Given the description of an element on the screen output the (x, y) to click on. 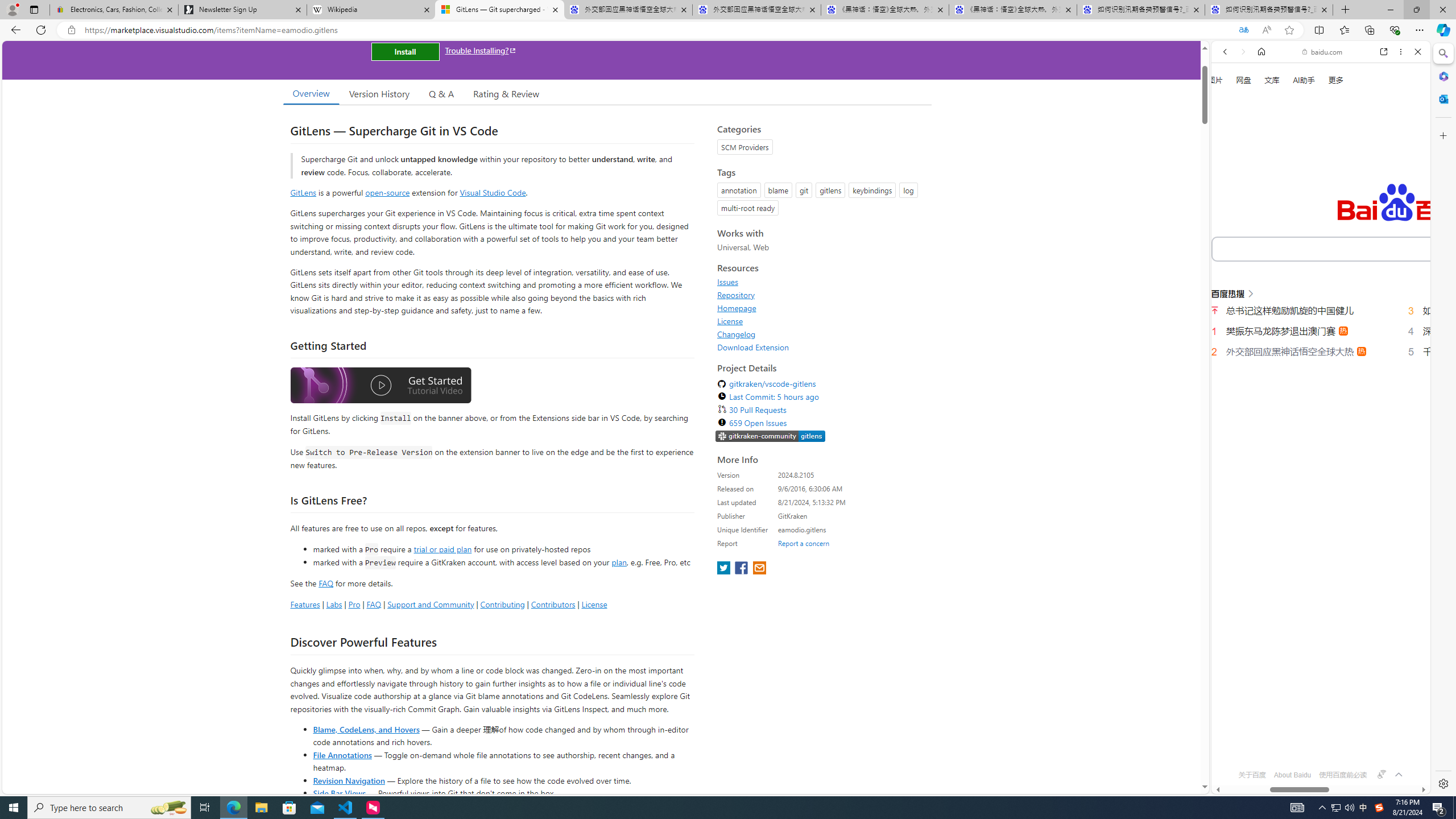
To get missing image descriptions, open the context menu. (1229, 130)
Class: b_serphb (1404, 193)
Newsletter Sign Up (242, 9)
English (Uk) (1320, 357)
share extension on email (759, 568)
share extension on twitter (724, 568)
Labs (334, 603)
English (US) (1320, 329)
License (820, 320)
